Given the description of an element on the screen output the (x, y) to click on. 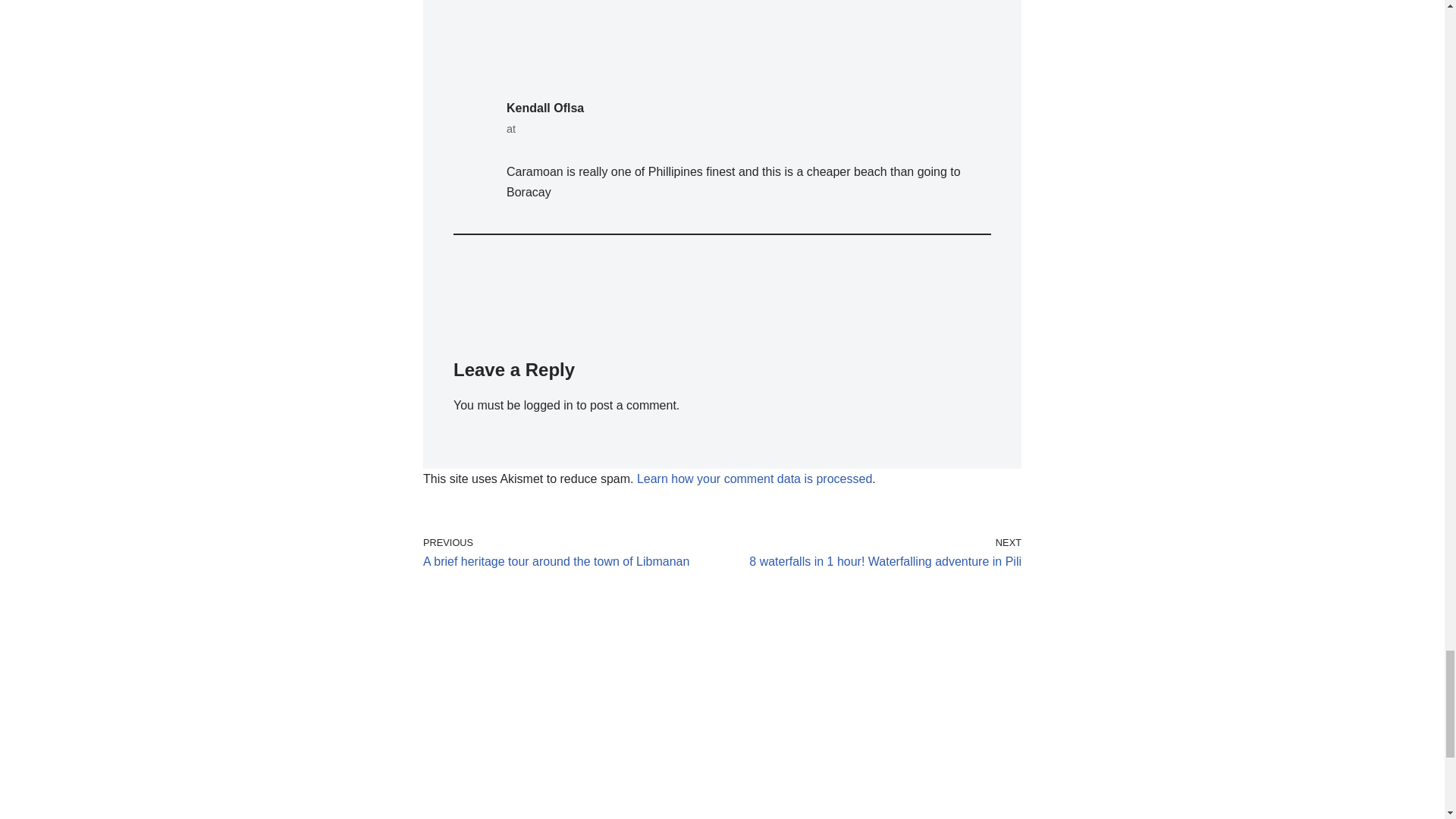
logged in (548, 404)
Learn how your comment data is processed (568, 552)
at (754, 478)
Kendall Oflsa (875, 552)
